Given the description of an element on the screen output the (x, y) to click on. 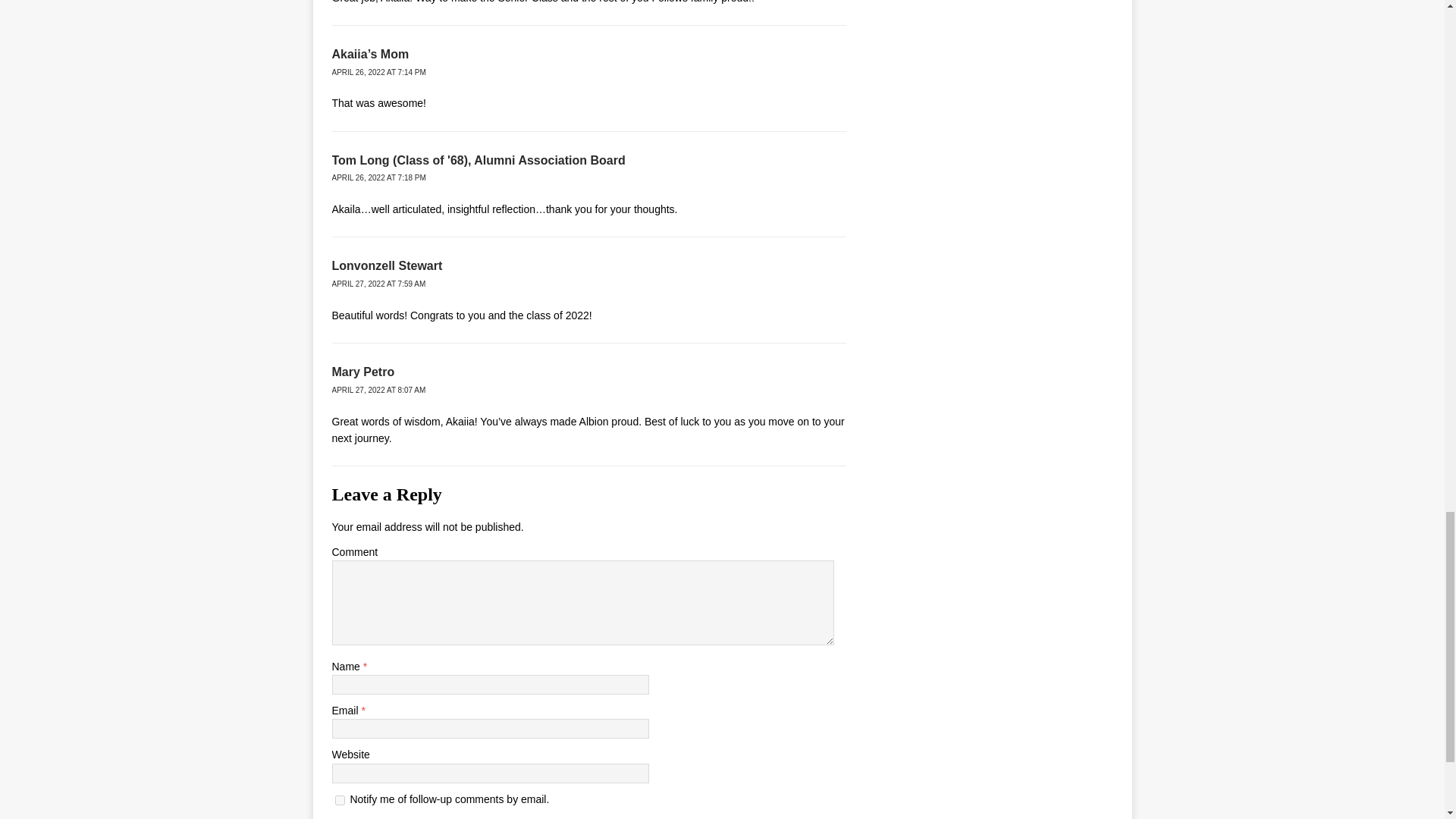
subscribe (339, 799)
APRIL 26, 2022 AT 7:18 PM (378, 177)
APRIL 27, 2022 AT 8:07 AM (378, 389)
APRIL 26, 2022 AT 7:14 PM (378, 71)
APRIL 27, 2022 AT 7:59 AM (378, 284)
